Given the description of an element on the screen output the (x, y) to click on. 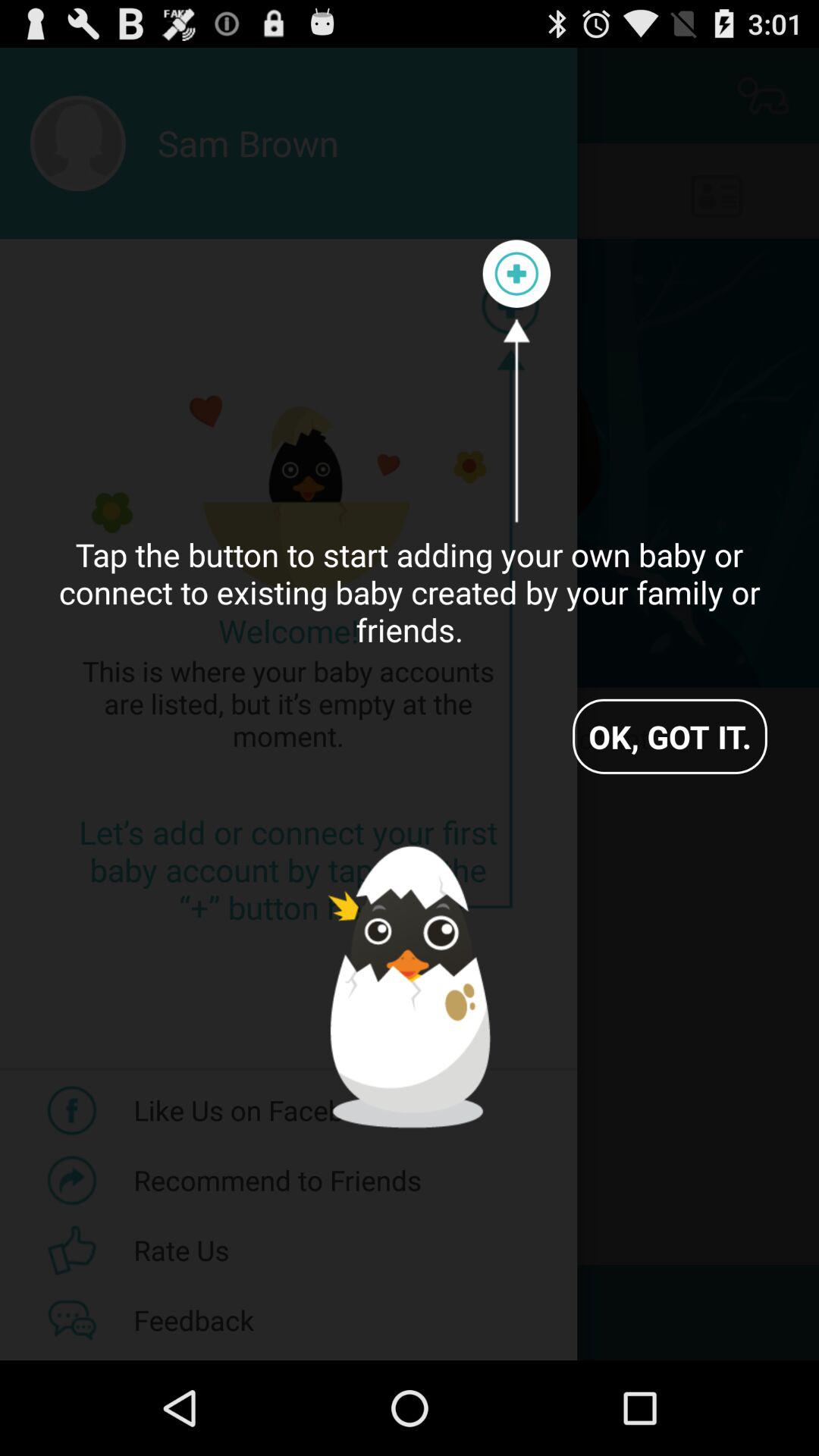
press the icon on the right (669, 736)
